Given the description of an element on the screen output the (x, y) to click on. 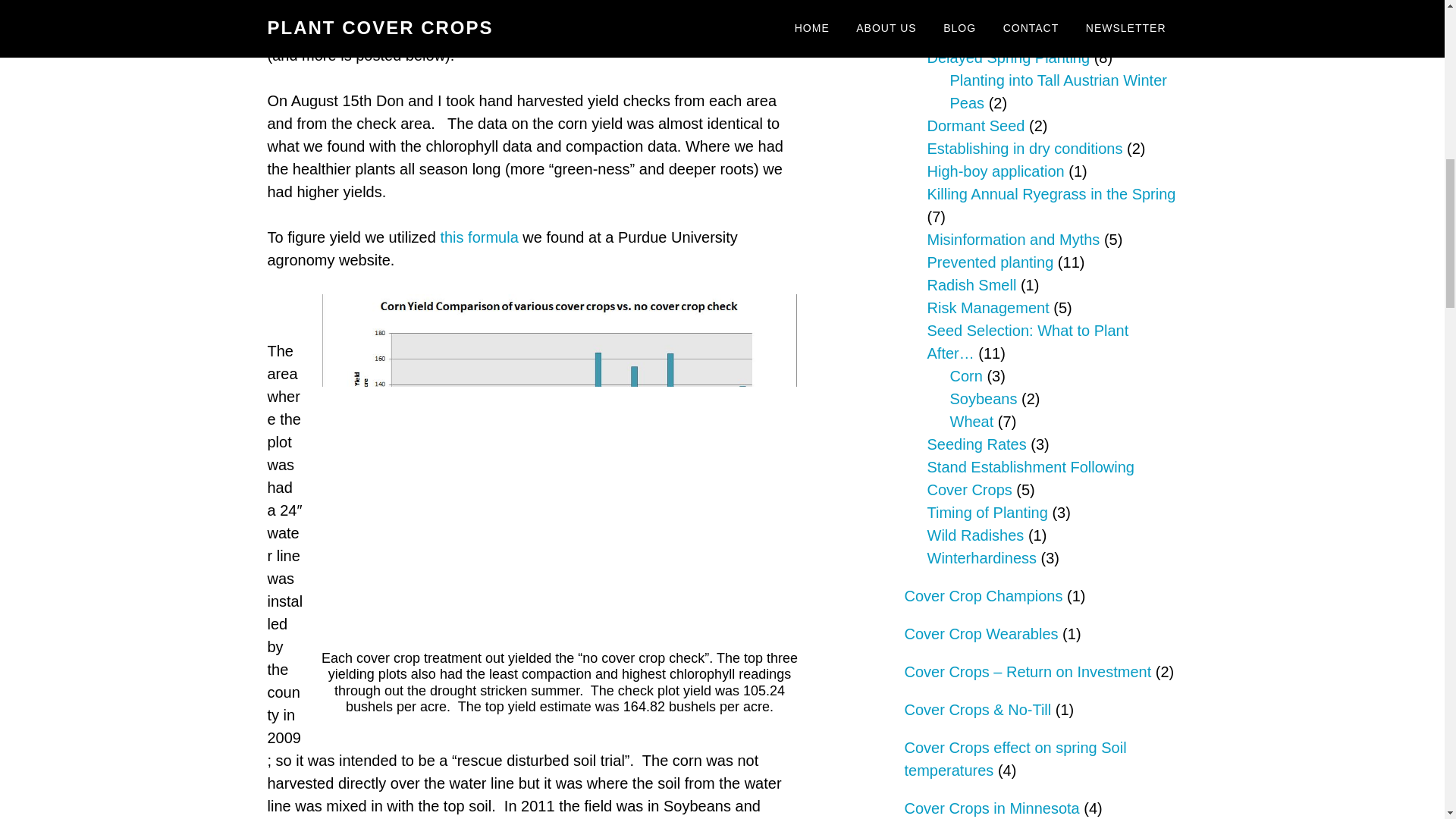
compaction readings (454, 9)
this formula (478, 237)
CropLife Webinar (405, 32)
